Given the description of an element on the screen output the (x, y) to click on. 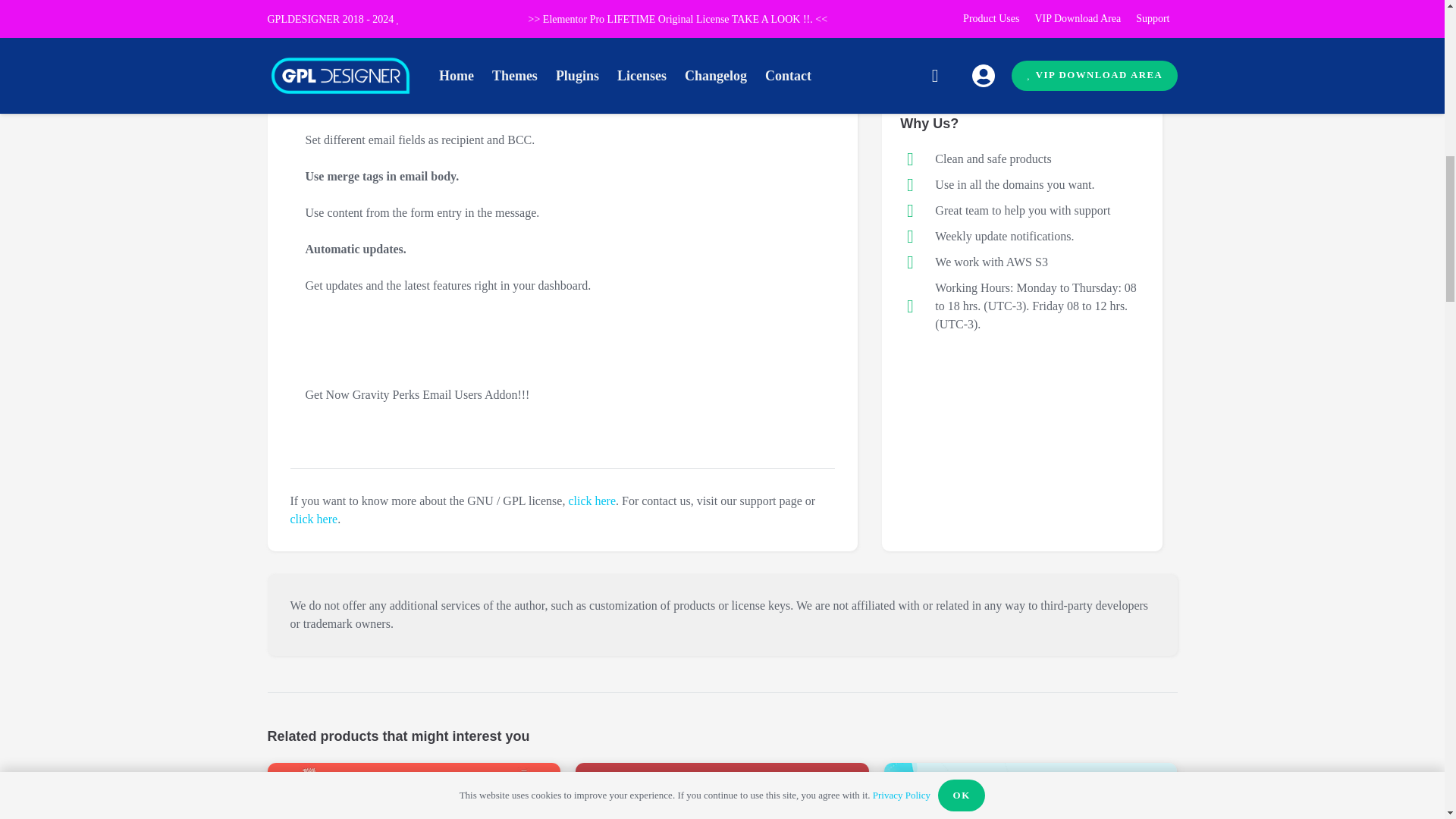
click here (313, 518)
Send Notification (975, 38)
Send Notification (975, 38)
click here (591, 500)
